Given the description of an element on the screen output the (x, y) to click on. 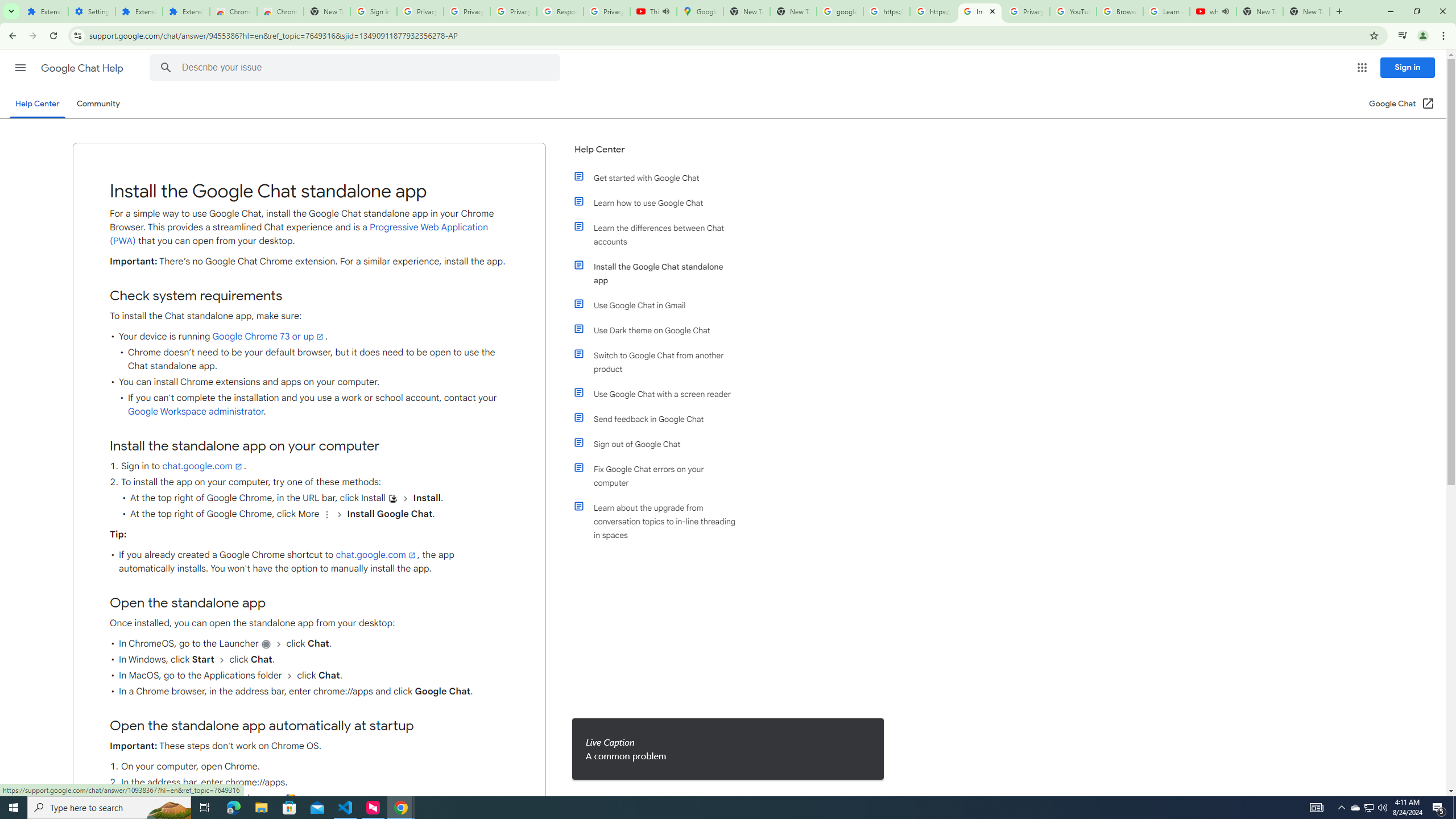
Google Workspace administrator (195, 411)
Google Chat (Open in a new window) (1401, 103)
Install the Google Chat standalone app (661, 273)
Help Center (656, 153)
https://scholar.google.com/ (886, 11)
Learn the differences between Chat accounts (661, 234)
New Tab (326, 11)
Community (97, 103)
YouTube (1073, 11)
Send feedback in Google Chat (661, 419)
Learn how to use Google Chat (661, 202)
